Given the description of an element on the screen output the (x, y) to click on. 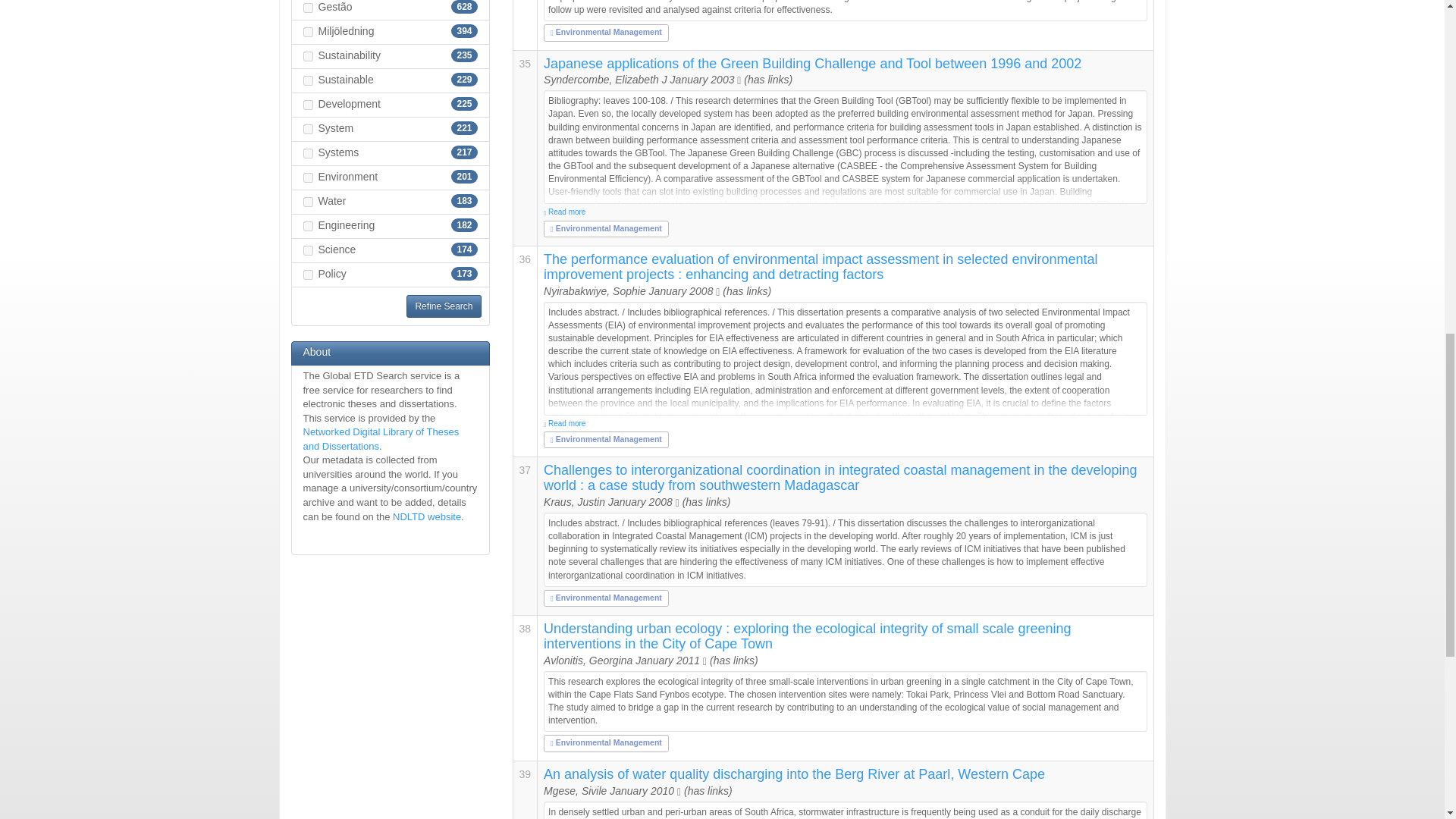
Environmental Management (606, 741)
Networked Digital Library of Theses and Dissertations (381, 438)
Environmental Management (606, 31)
NDLTD website (427, 516)
Refine Search (443, 305)
Environmental Management (606, 438)
Read more (845, 212)
